Given the description of an element on the screen output the (x, y) to click on. 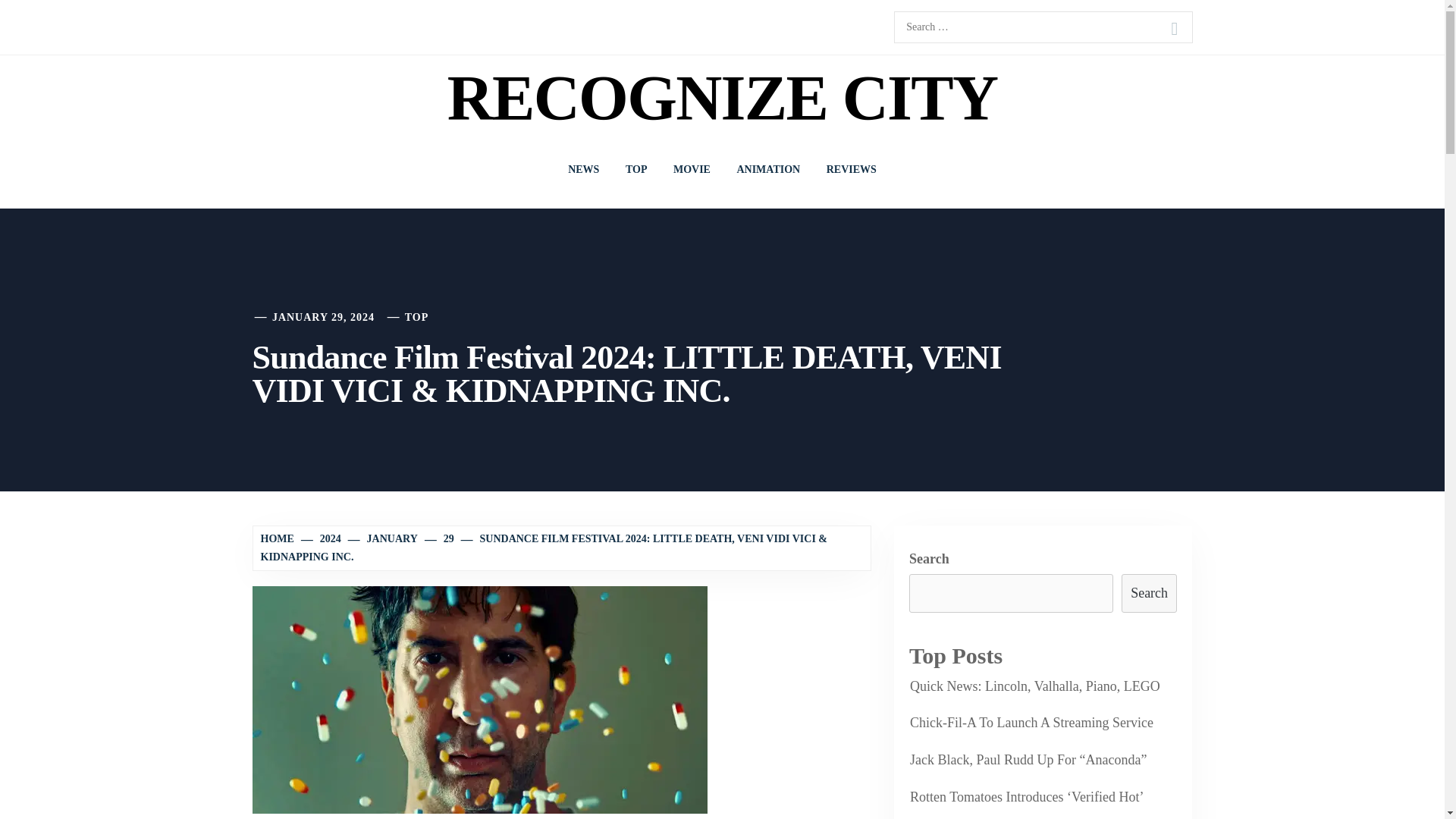
2024 (322, 538)
JANUARY (384, 538)
HOME (279, 538)
Search (1148, 593)
JANUARY 29, 2024 (323, 317)
Quick News: Lincoln, Valhalla, Piano, LEGO (1032, 686)
Search (1174, 28)
RECOGNIZE CITY (721, 98)
REVIEWS (851, 169)
29 (440, 538)
